Given the description of an element on the screen output the (x, y) to click on. 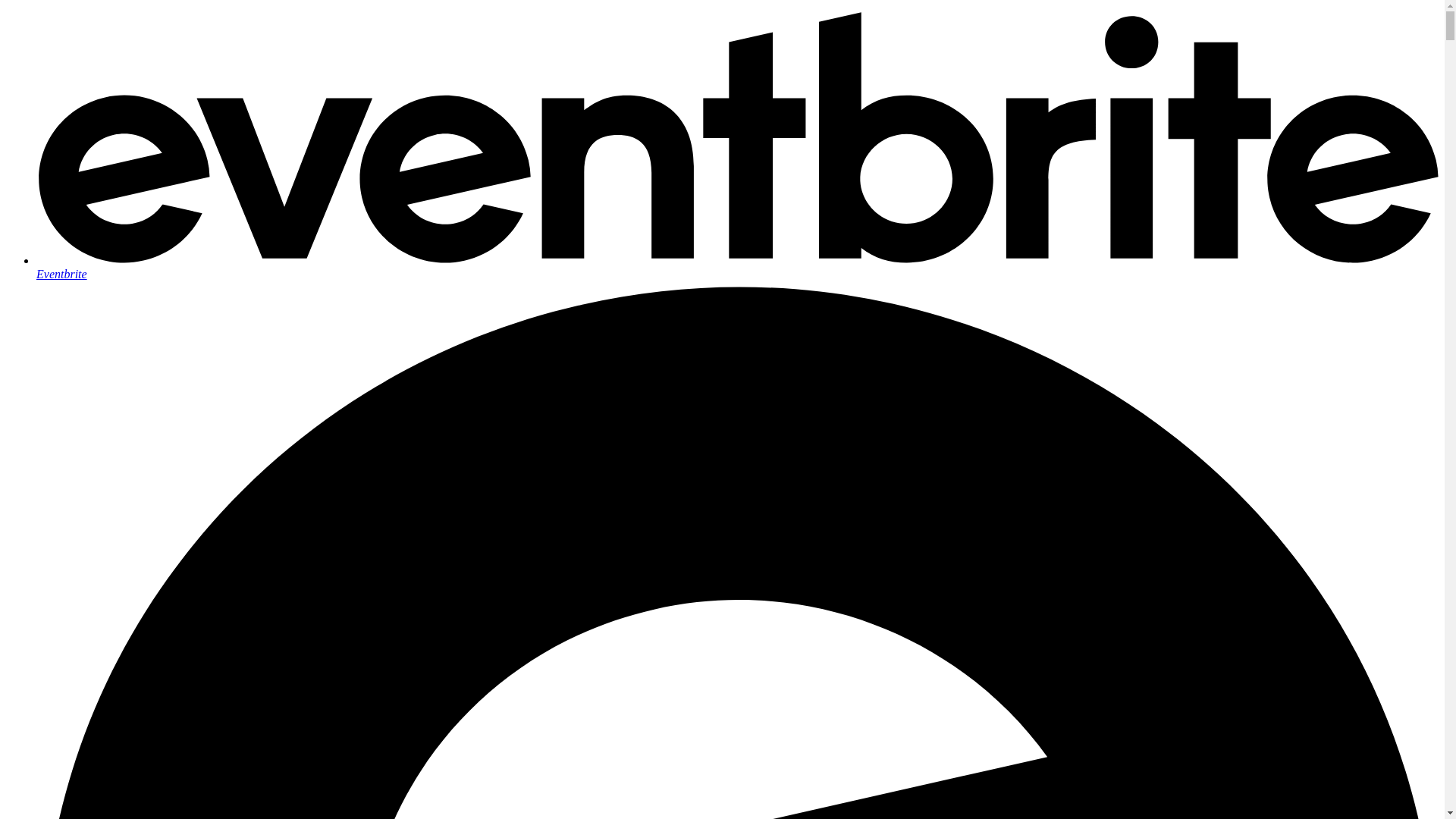
Eventbrite Element type: text (737, 267)
